Given the description of an element on the screen output the (x, y) to click on. 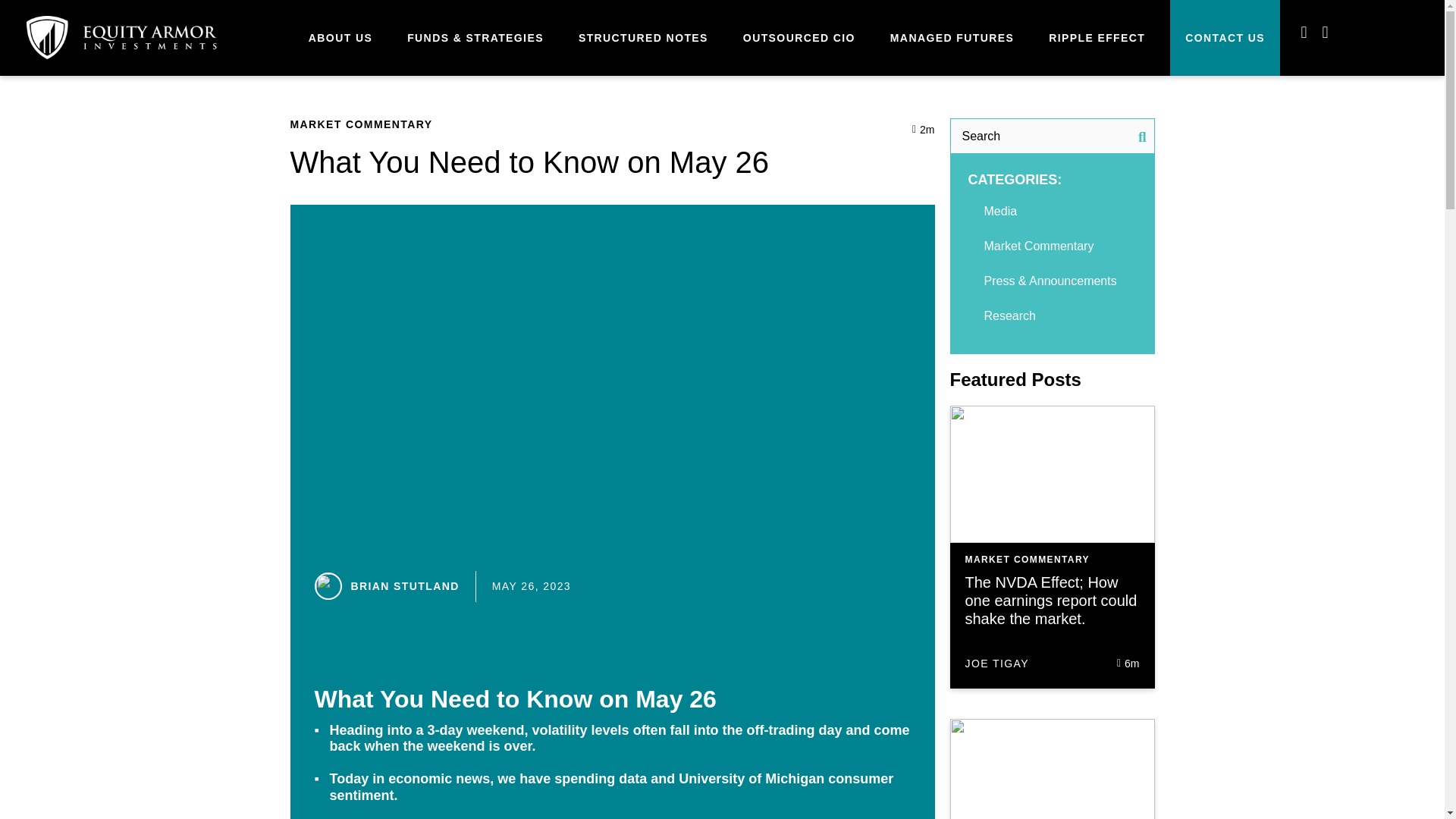
MARKET COMMENTARY (360, 123)
Media (1000, 210)
CONTACT US (1224, 38)
Structured Notes (642, 38)
RIPPLE EFFECT (1096, 38)
MANAGED FUTURES (951, 38)
Outsourced CIO (799, 38)
Contact Us (1224, 38)
OUTSOURCED CIO (799, 38)
